Given the description of an element on the screen output the (x, y) to click on. 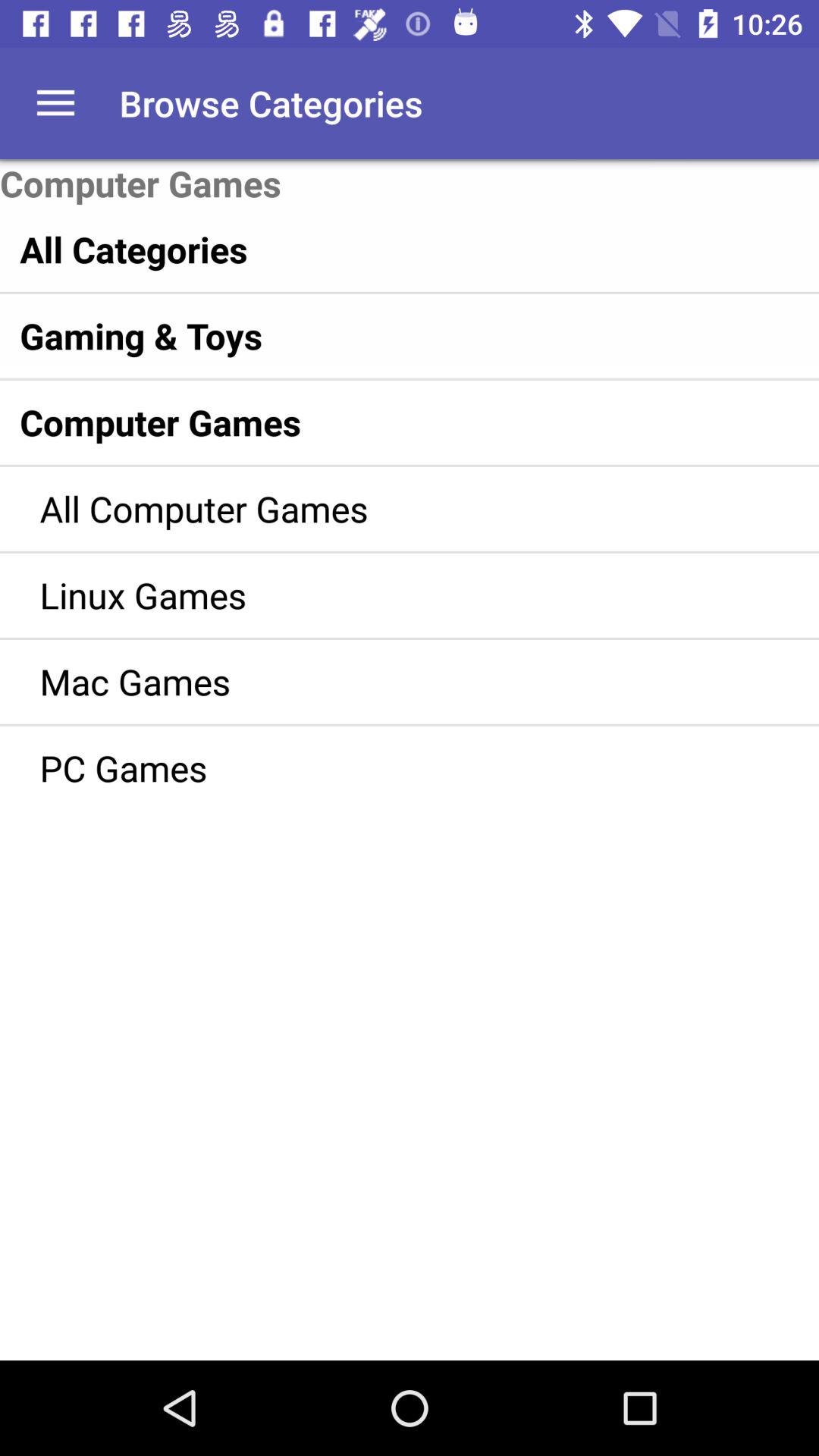
press item below all categories item (377, 335)
